Given the description of an element on the screen output the (x, y) to click on. 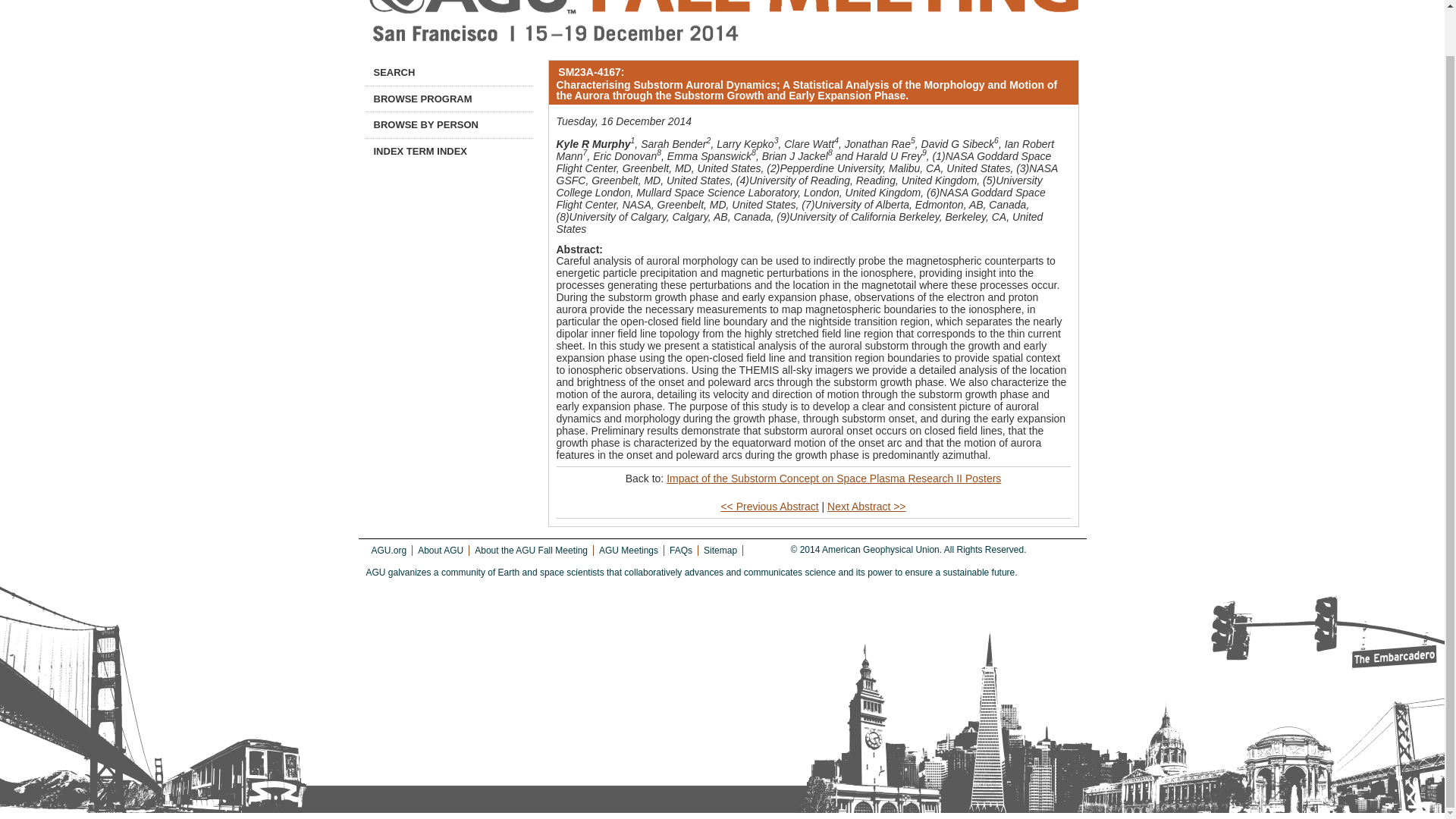
AGU Meetings (628, 550)
INDEX TERM INDEX (448, 151)
BROWSE PROGRAM (448, 99)
AGU.org (389, 550)
FAQs (681, 550)
SEARCH (448, 72)
BROWSE BY PERSON (448, 125)
Sitemap (719, 550)
About the AGU Fall Meeting (531, 550)
About AGU (440, 550)
